Given the description of an element on the screen output the (x, y) to click on. 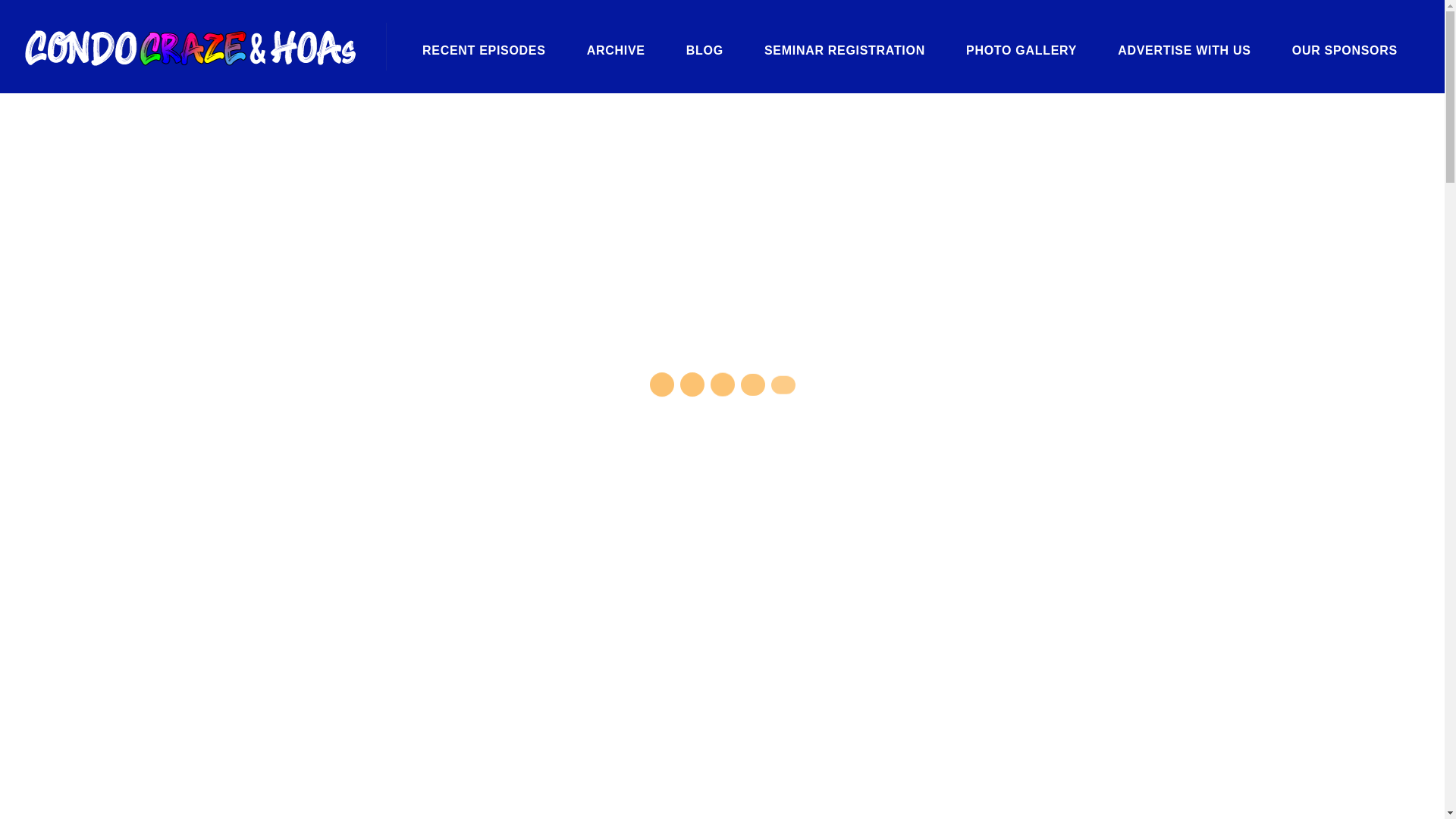
SEMINAR REGISTRATION (844, 50)
OUR SPONSORS (1344, 50)
March 23, 2021 (721, 301)
ADVERTISE WITH US (1184, 50)
RECENT EPISODES (484, 50)
ARCHIVE (615, 50)
PHOTO GALLERY (1021, 50)
BLOG (704, 50)
Home (1128, 108)
Home (1128, 108)
